Given the description of an element on the screen output the (x, y) to click on. 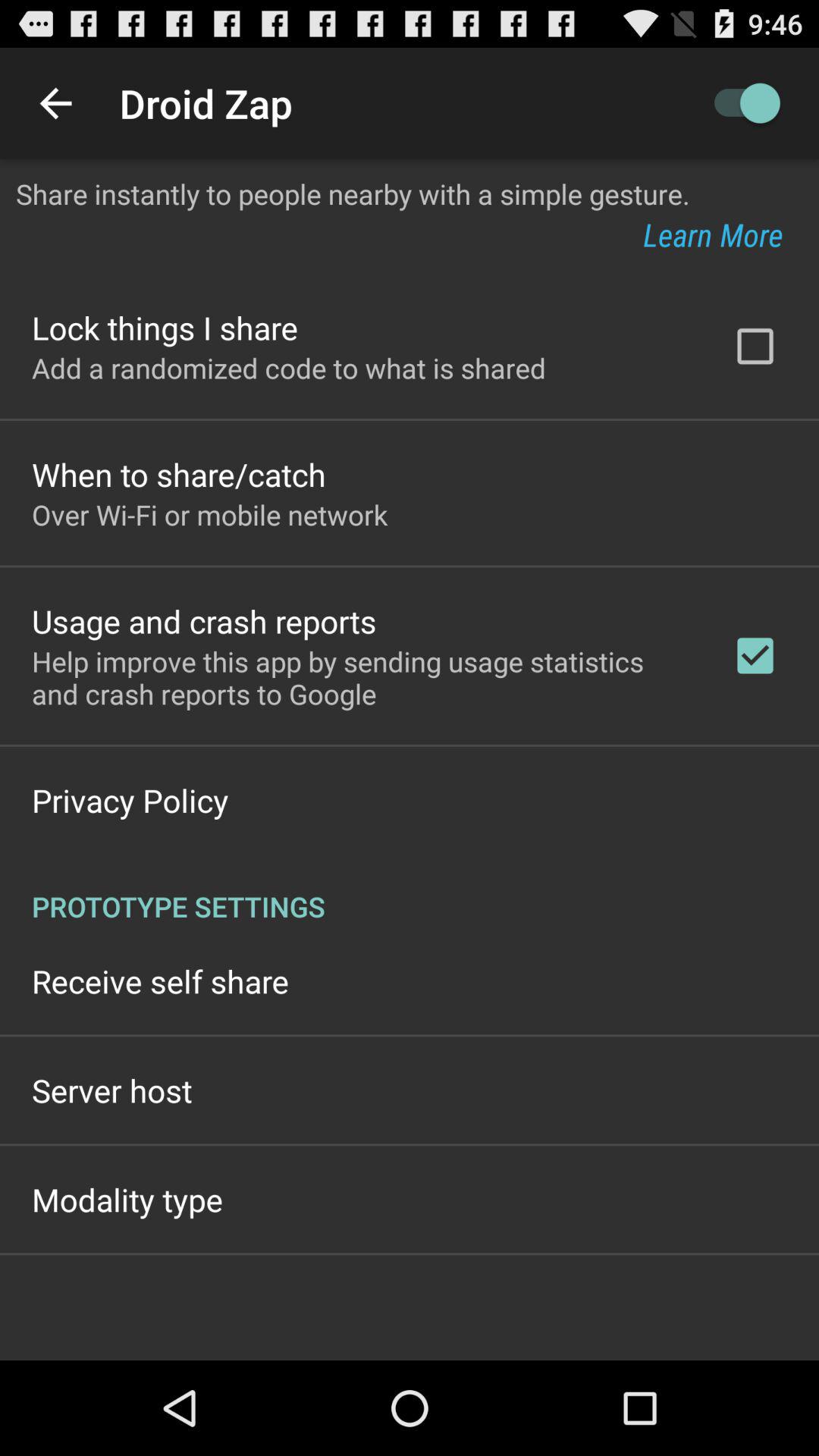
flip to over wi fi item (209, 514)
